Given the description of an element on the screen output the (x, y) to click on. 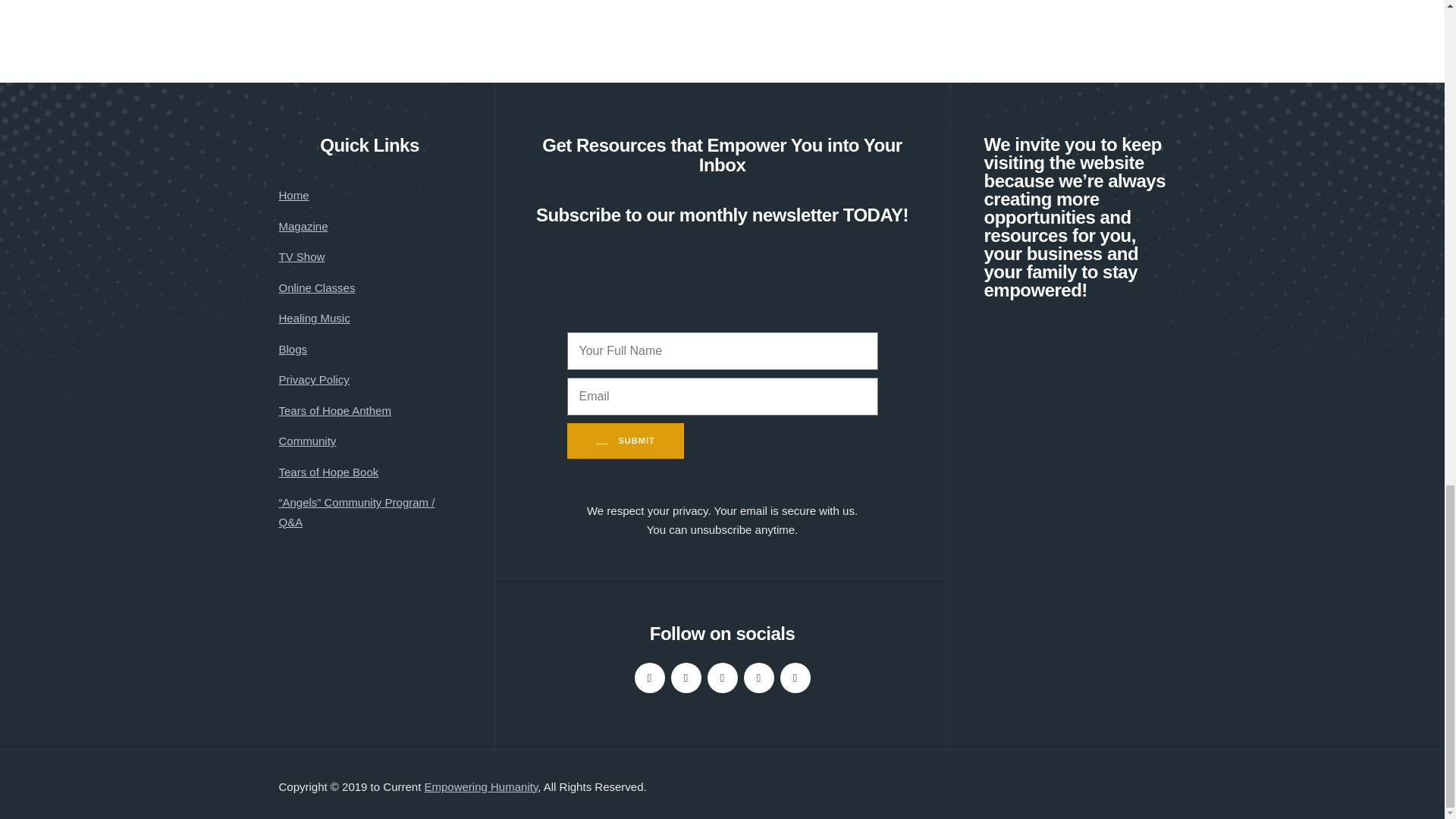
Home (293, 195)
Healing Music (314, 318)
Magazine (304, 226)
TV Show (301, 256)
Privacy Policy (314, 379)
Blogs (293, 349)
Online Classes (317, 288)
